Given the description of an element on the screen output the (x, y) to click on. 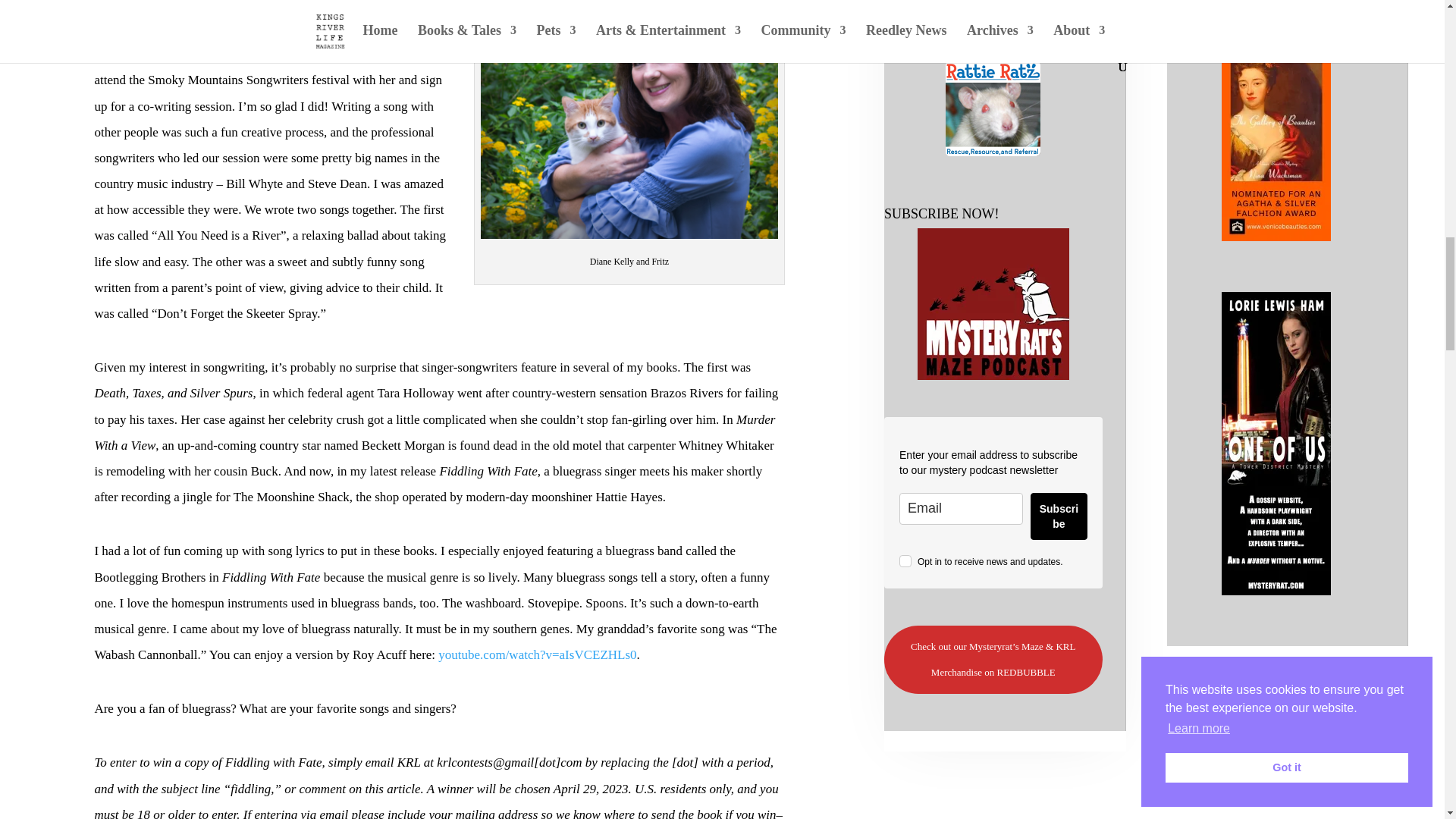
Subscribe now! (992, 304)
